Given the description of an element on the screen output the (x, y) to click on. 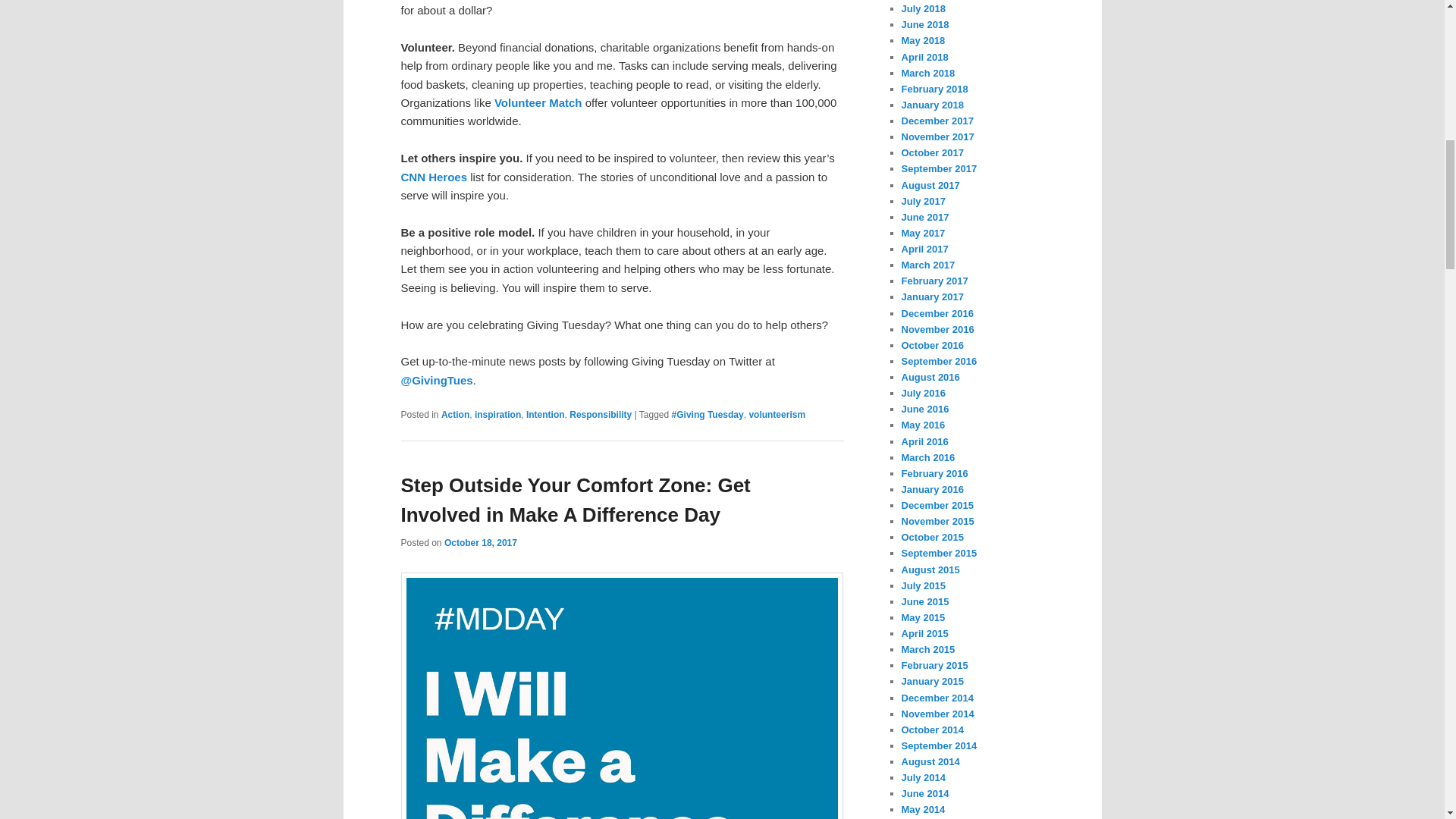
Volunteer Match (538, 102)
volunteerism (776, 414)
View all posts in Responsibility (600, 414)
12:20 pm (480, 542)
View all posts in inspiration (497, 414)
View all posts in Action (454, 414)
CNN Heroes (433, 175)
Action (454, 414)
Volunteer Match (538, 102)
